Given the description of an element on the screen output the (x, y) to click on. 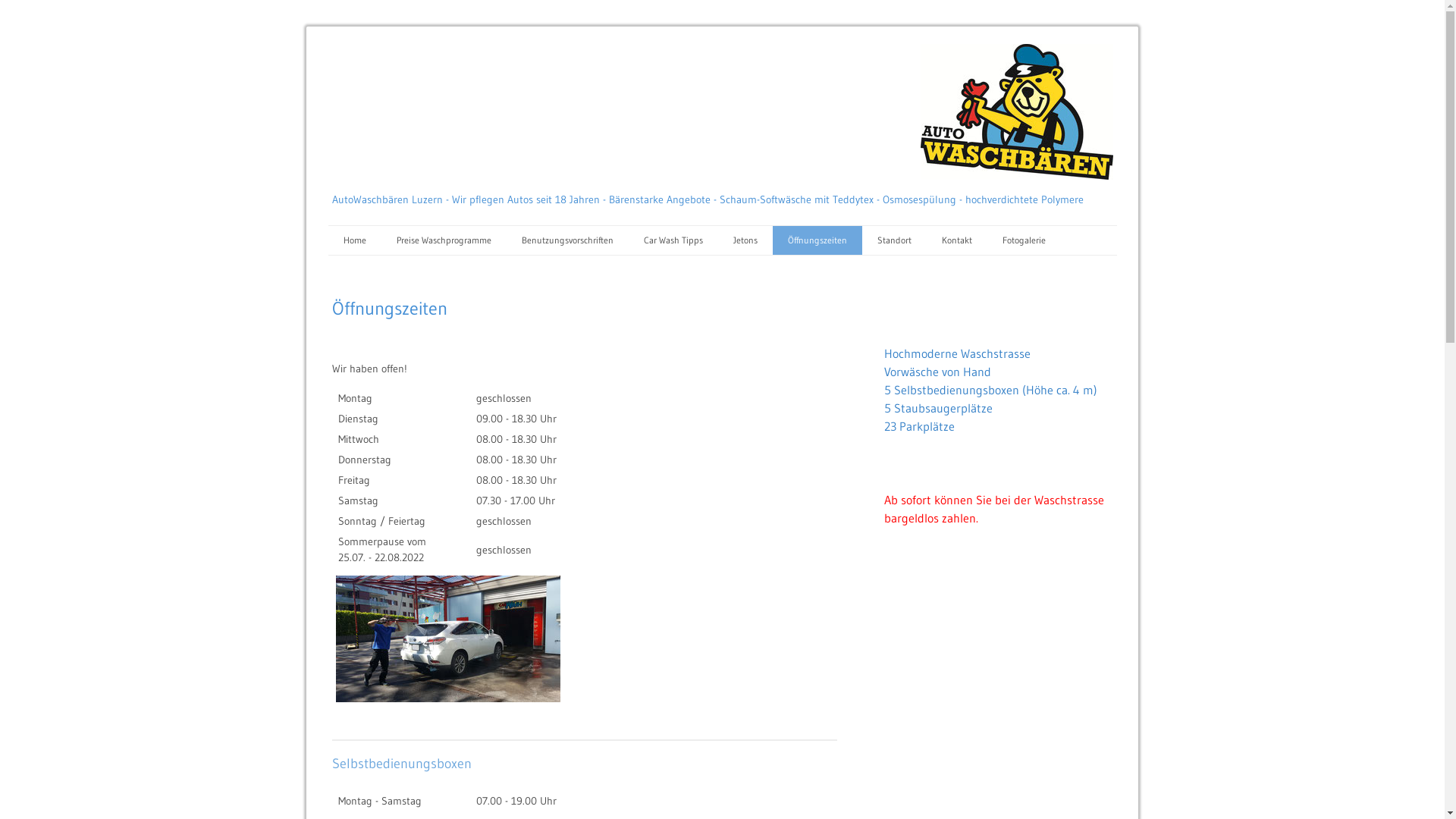
Standort Element type: text (893, 239)
Home Element type: text (353, 239)
Car Wash Tipps Element type: text (672, 239)
Kontakt Element type: text (956, 239)
Benutzungsvorschriften Element type: text (567, 239)
Preise Waschprogramme Element type: text (442, 239)
Fotogalerie Element type: text (1023, 239)
Jetons Element type: text (744, 239)
